Given the description of an element on the screen output the (x, y) to click on. 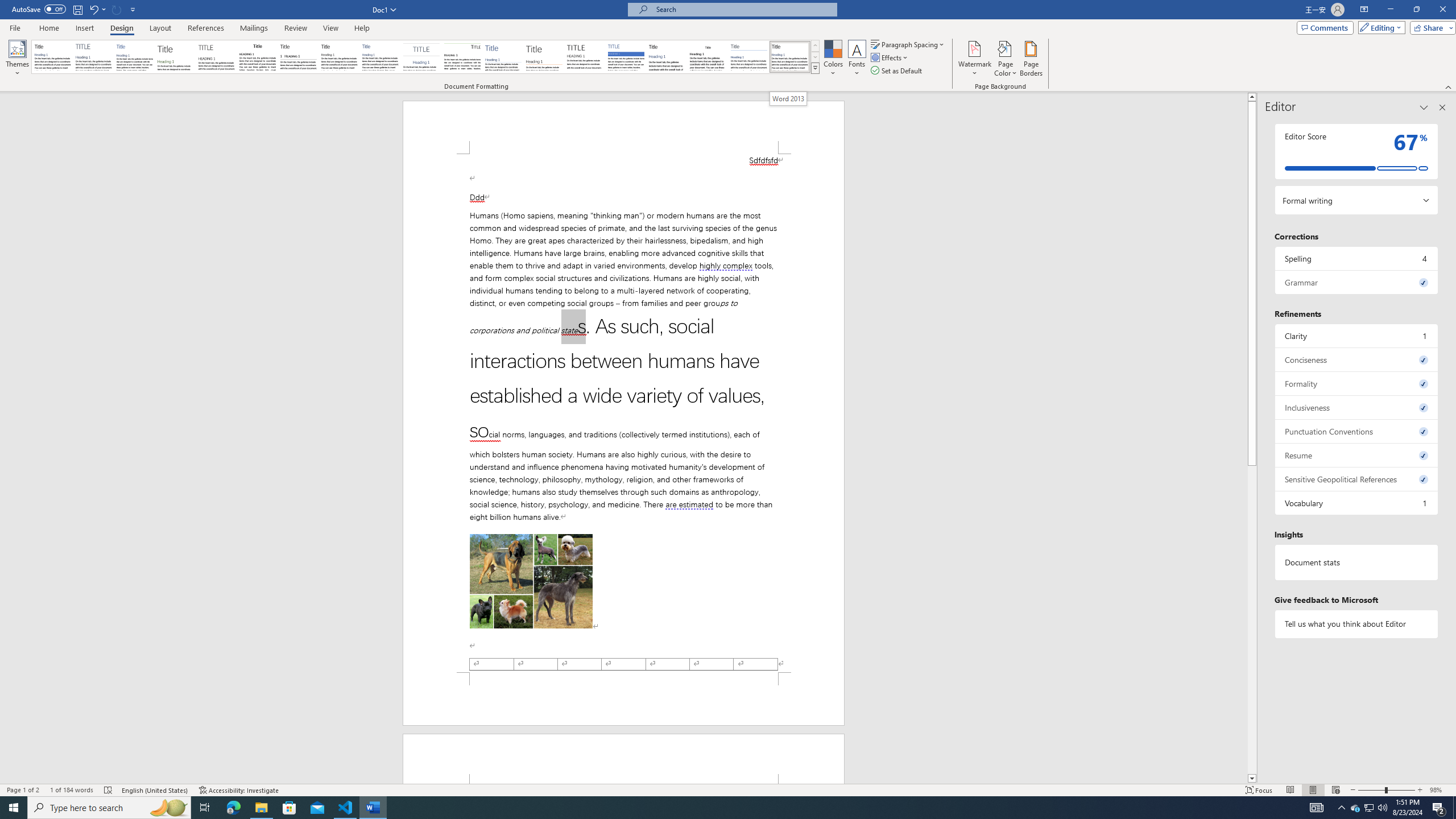
Clarity, 1 issue. Press space or enter to review items. (1356, 335)
AutomationID: QuickStylesSets (425, 56)
Language English (United States) (154, 790)
Black & White (Capitalized) (216, 56)
Class: MsoCommandBar (728, 789)
Colors (832, 58)
Can't Repeat (117, 9)
Shaded (625, 56)
Spelling and Grammar Check Errors (108, 790)
